Given the description of an element on the screen output the (x, y) to click on. 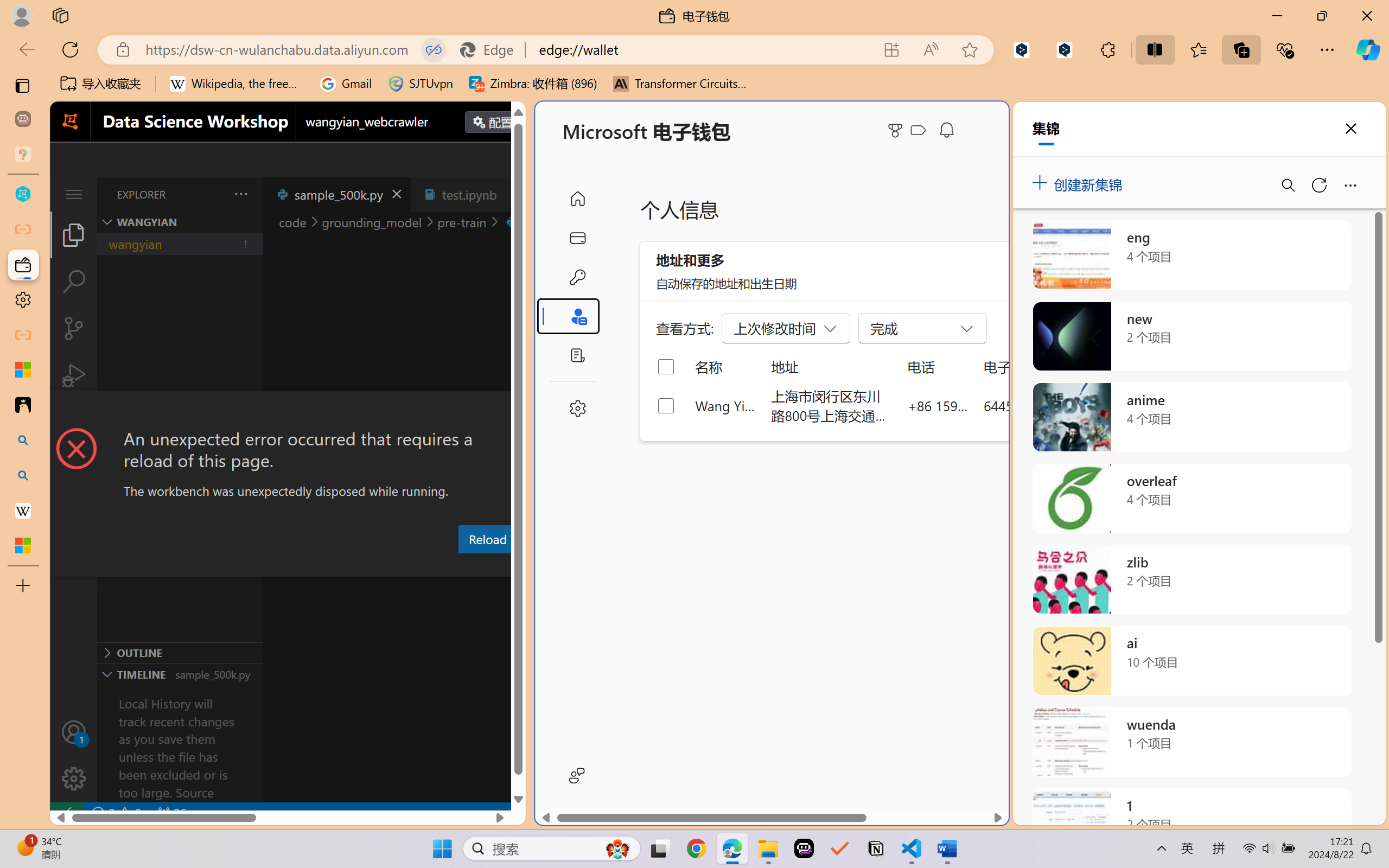
Adjust indents and spacing - Microsoft Support (22, 369)
Class: menubar compact overflow-menu-only (73, 194)
+86 159 0032 4640 (938, 405)
Explorer (Ctrl+Shift+E) (73, 234)
Wang Yian (725, 405)
